Given the description of an element on the screen output the (x, y) to click on. 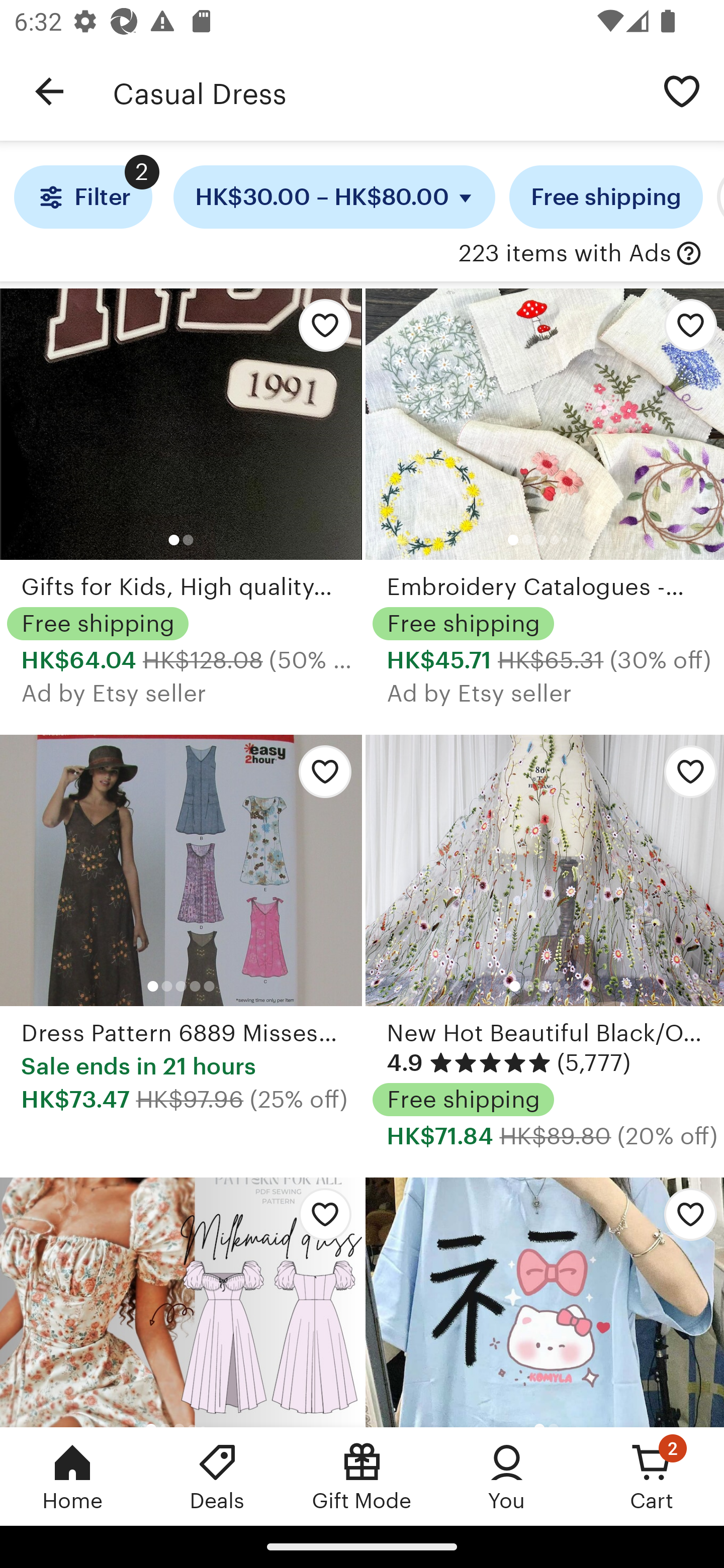
Navigate up (49, 91)
Save search (681, 90)
Casual Dress (375, 91)
Filter (82, 197)
HK$30.00 – HK$80.00 (334, 197)
Free shipping (605, 197)
223 items with Ads (564, 253)
with Ads (688, 253)
Deals (216, 1475)
Gift Mode (361, 1475)
You (506, 1475)
Cart, 2 new notifications Cart (651, 1475)
